Given the description of an element on the screen output the (x, y) to click on. 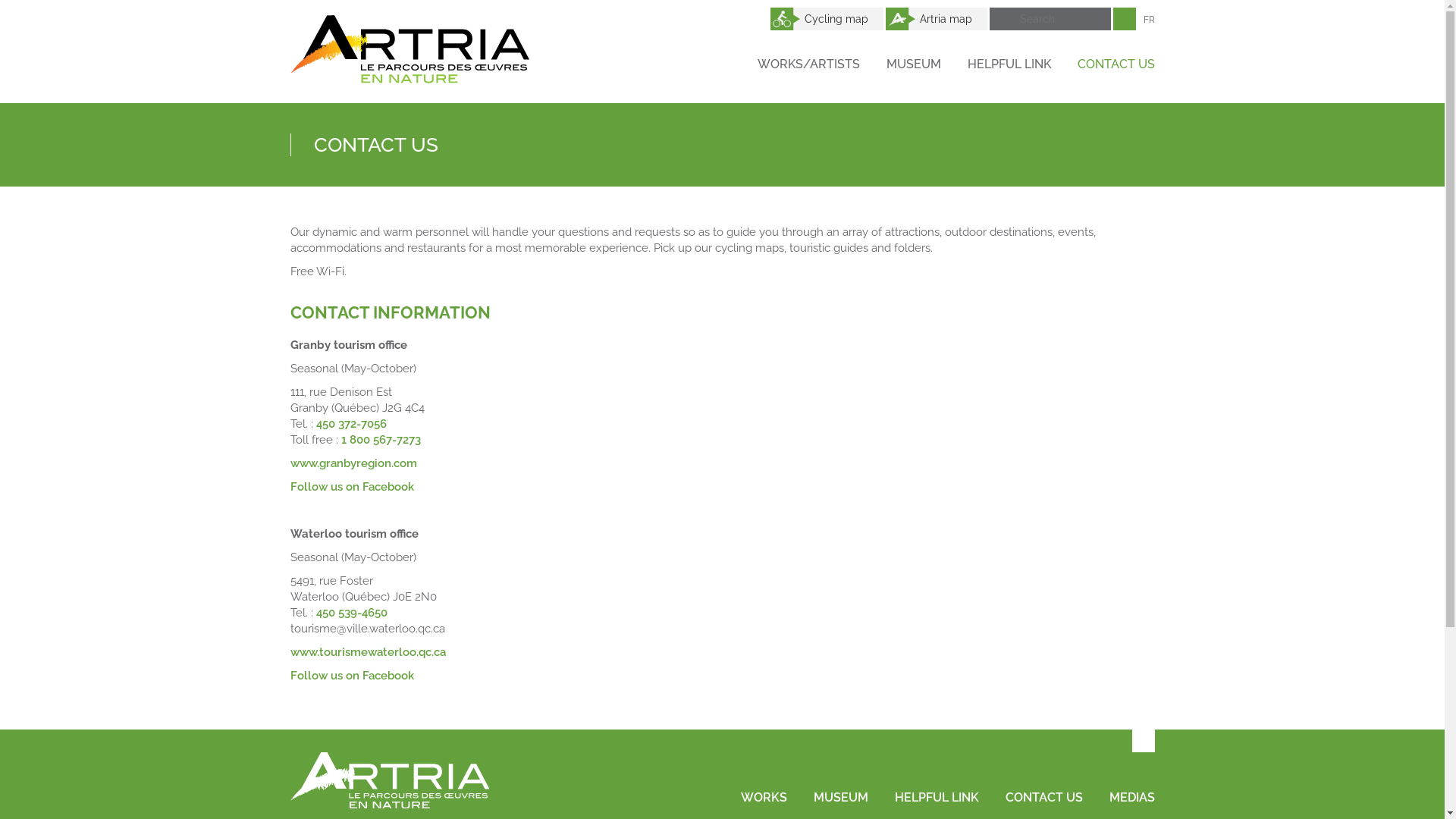
WORKS/ARTISTS Element type: text (807, 63)
HELPFUL LINK Element type: text (936, 797)
www.granbyregion.com Element type: text (352, 463)
MEDIAS Element type: text (1131, 797)
1 800 567-7273 Element type: text (380, 439)
WORKS Element type: text (763, 797)
MUSEUM Element type: text (912, 63)
Search Element type: hover (1049, 18)
CONTACT US Element type: text (1043, 797)
450 372-7056 Element type: text (350, 423)
FR Element type: text (1148, 19)
HELPFUL LINK Element type: text (1009, 63)
450 539-4650 Element type: text (350, 612)
MUSEUM Element type: text (839, 797)
Follow us on Facebook Element type: text (351, 675)
Cycling map Element type: text (826, 18)
www.tourismewaterloo.qc.ca Element type: text (367, 651)
Artria map Element type: text (936, 18)
CONTACT US Element type: text (1115, 63)
Follow us on Facebook Element type: text (351, 486)
